Given the description of an element on the screen output the (x, y) to click on. 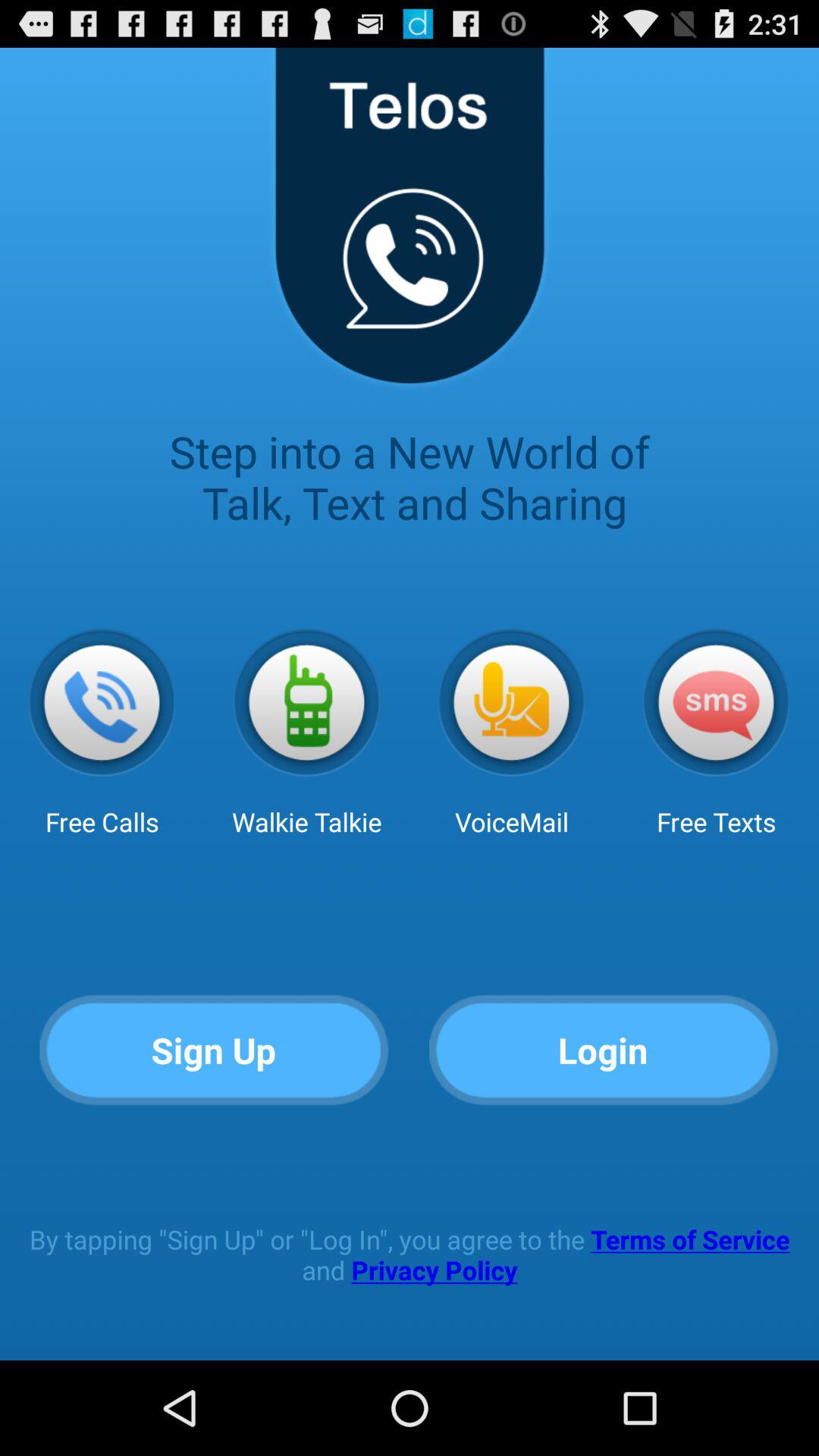
click the by tapping sign app (409, 1254)
